Given the description of an element on the screen output the (x, y) to click on. 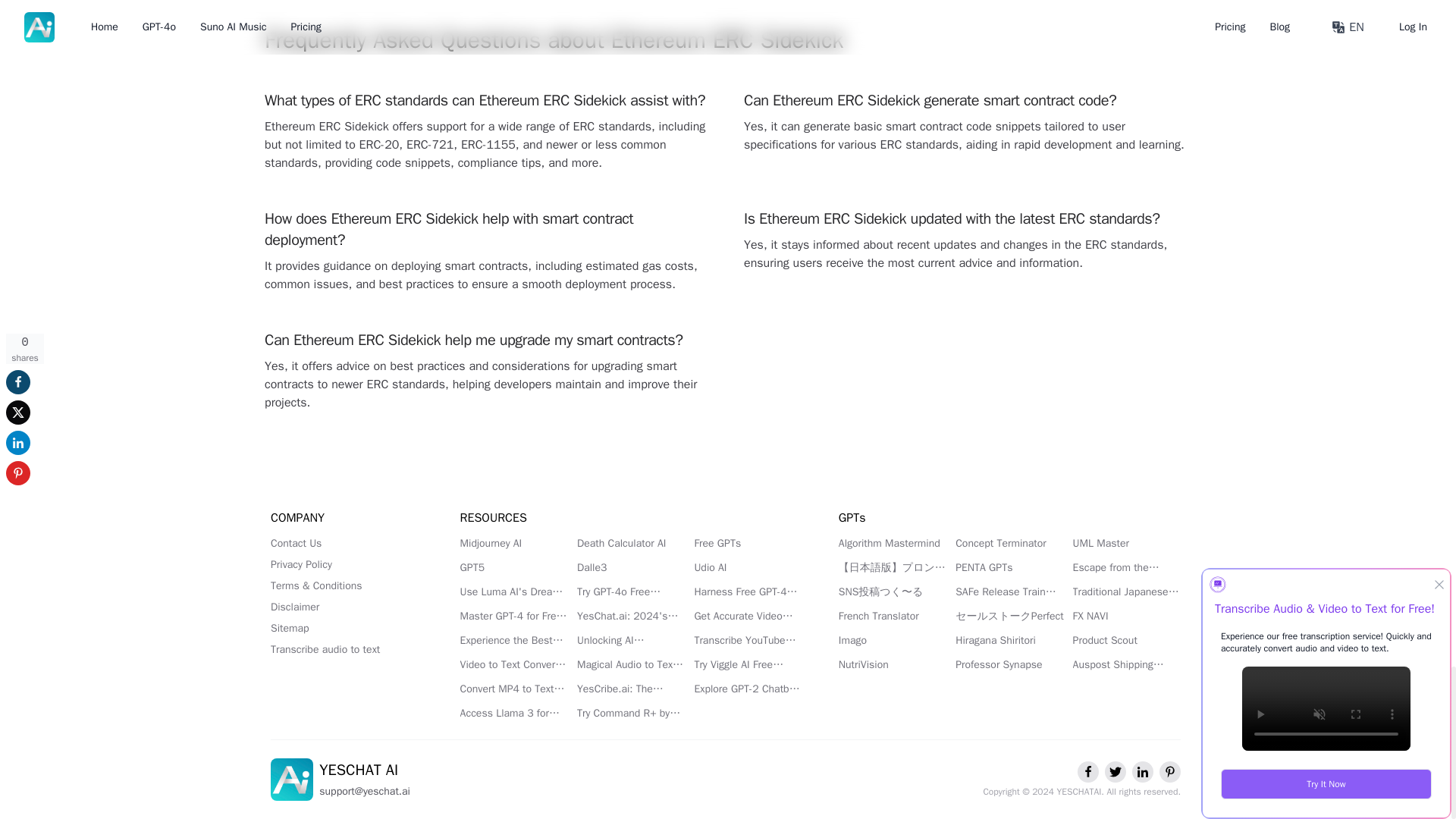
Disclaimer (346, 607)
Privacy Policy (346, 564)
Death Calculator AI (630, 543)
Contact Us (346, 543)
Midjourney AI (513, 543)
Sitemap (346, 628)
Transcribe audio to text (346, 649)
